Given the description of an element on the screen output the (x, y) to click on. 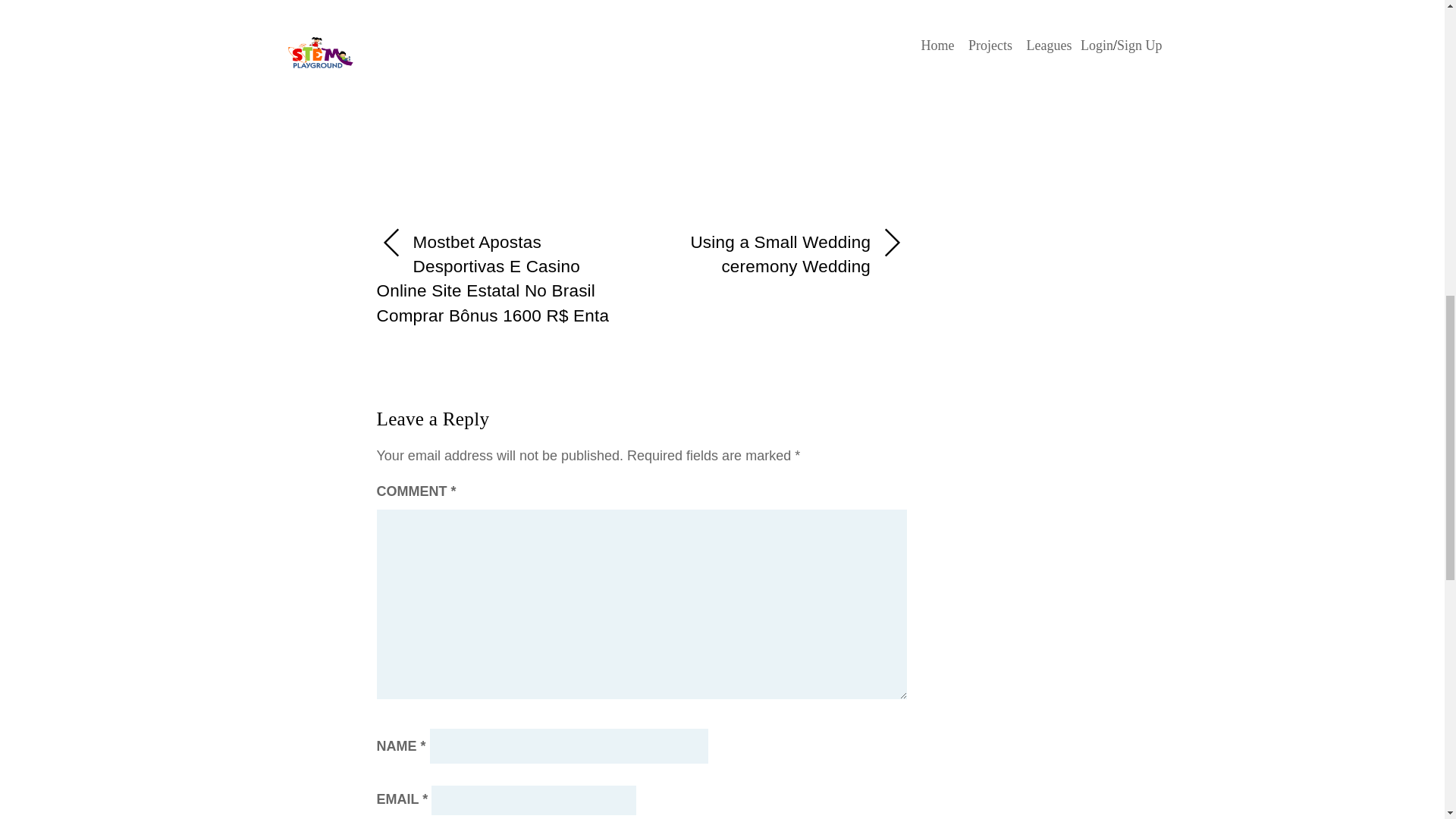
Using a Small Wedding ceremony Wedding (782, 255)
